Given the description of an element on the screen output the (x, y) to click on. 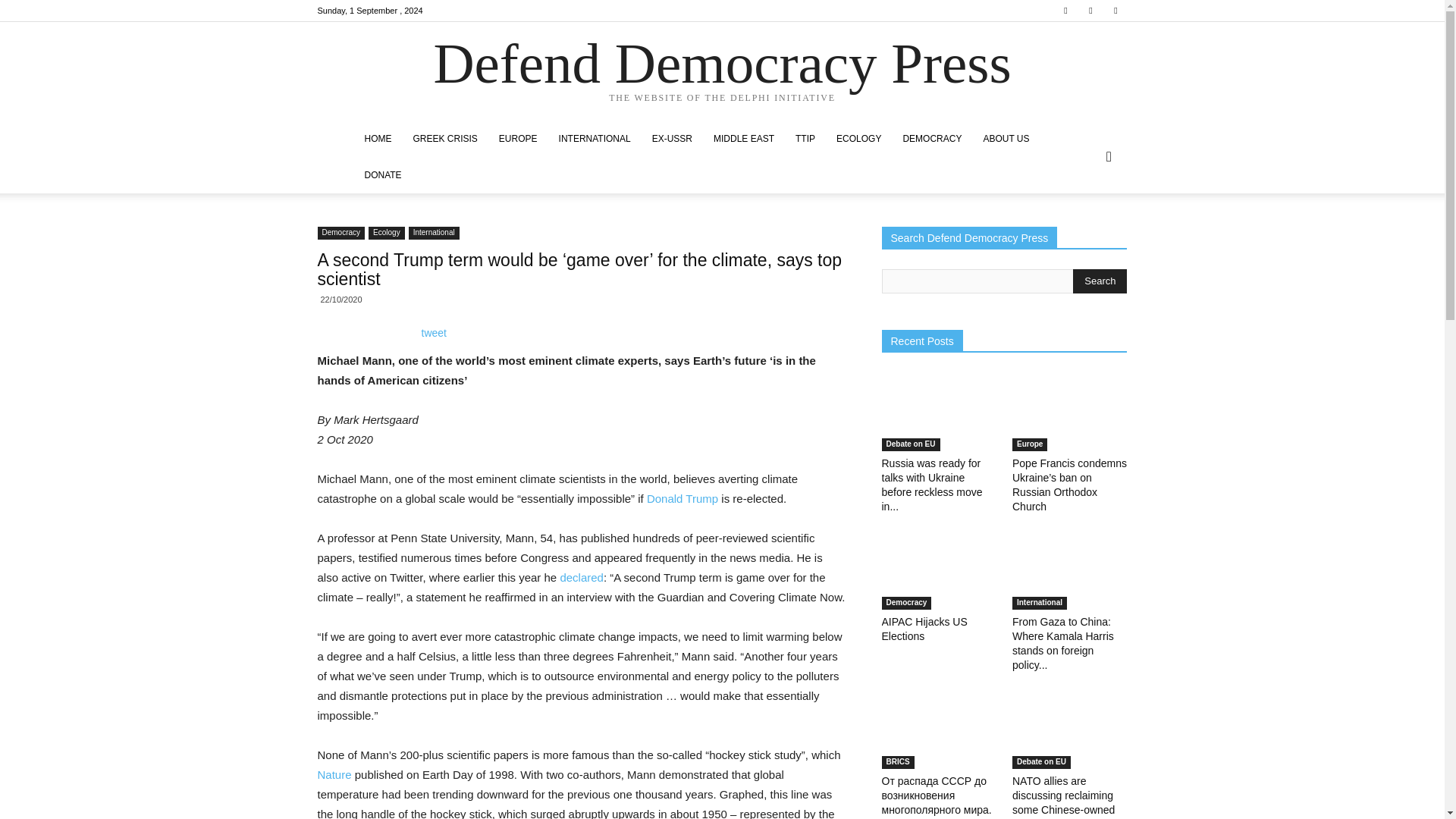
Youtube (1114, 10)
Twitter (1090, 10)
Search (1099, 281)
EX-USSR (672, 138)
EUROPE (517, 138)
Facebook (1065, 10)
GREEK CRISIS (444, 138)
INTERNATIONAL (595, 138)
